Given the description of an element on the screen output the (x, y) to click on. 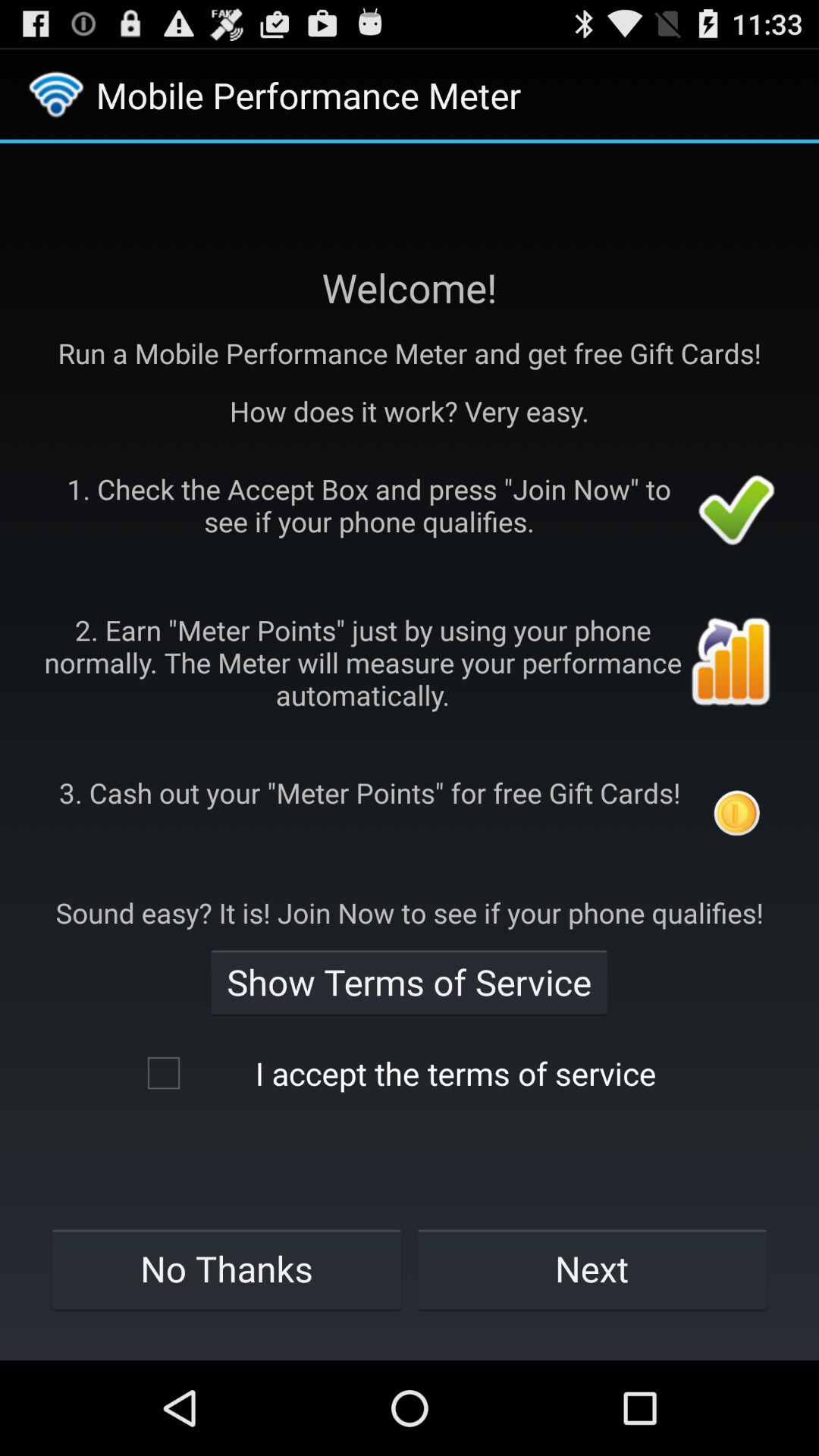
click on the text i accept the terms of service (408, 1073)
next (591, 1268)
